Given the description of an element on the screen output the (x, y) to click on. 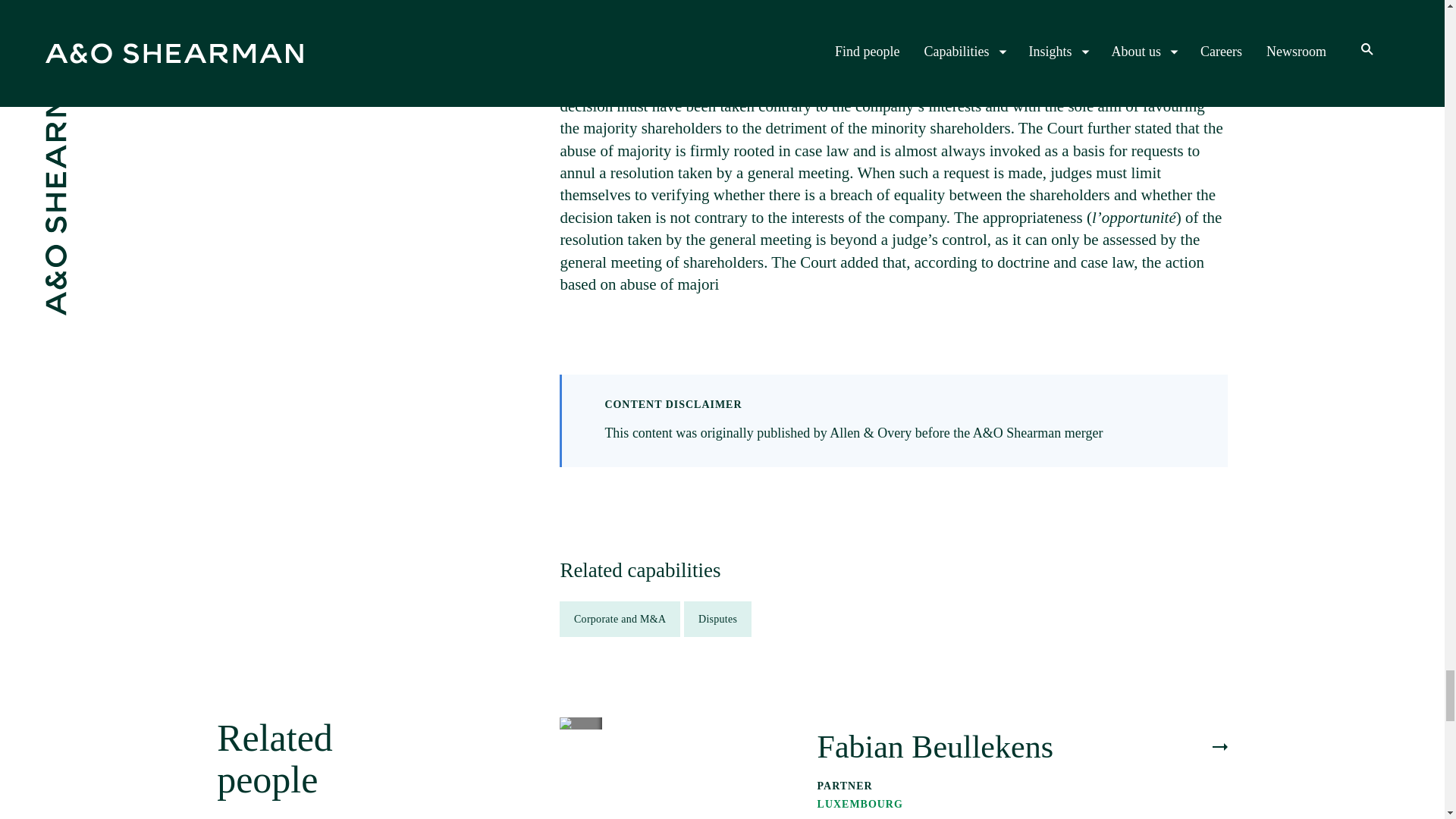
Disputes (717, 619)
